Given the description of an element on the screen output the (x, y) to click on. 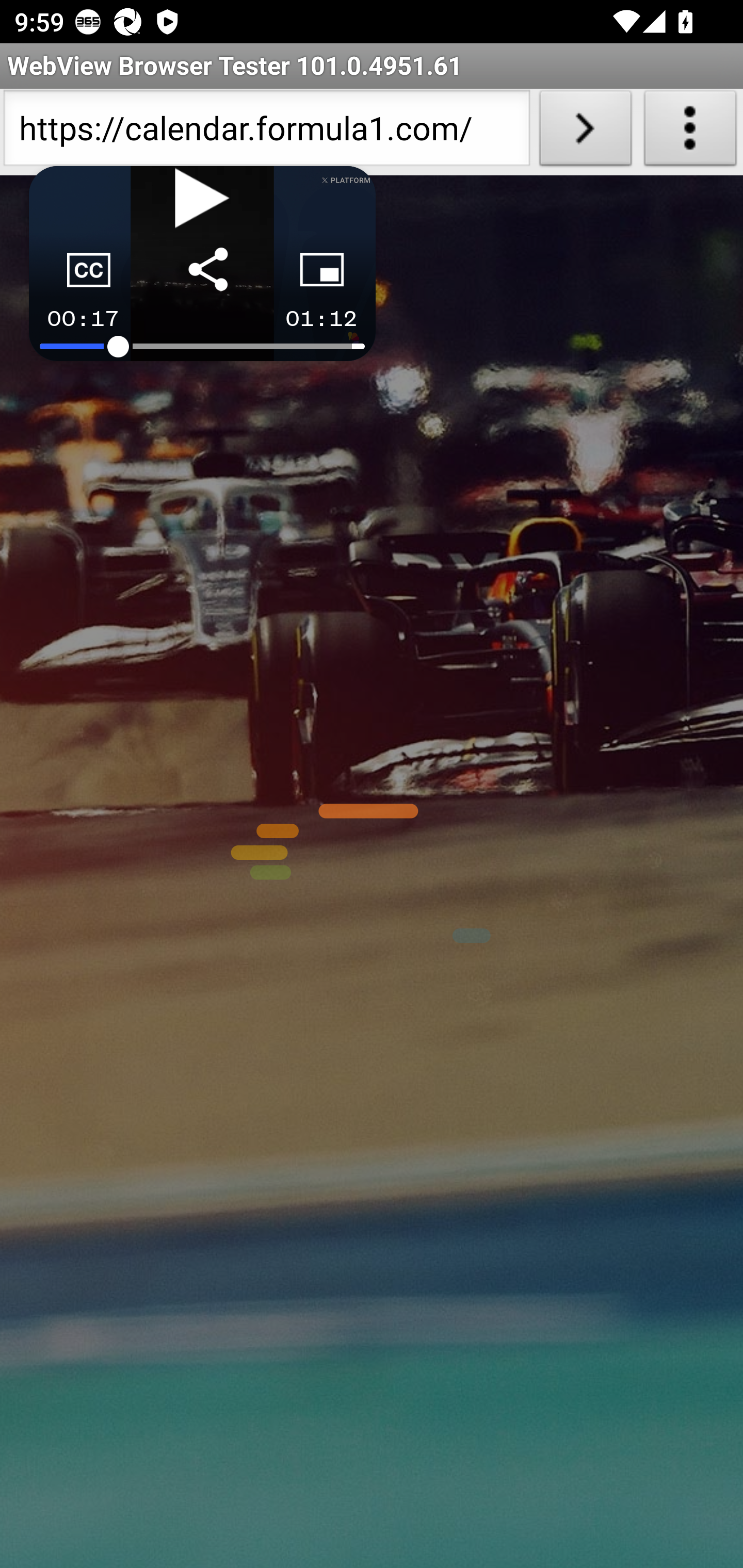
https://calendar.formula1.com/ (266, 132)
Load URL (585, 132)
About WebView (690, 132)
